Given the description of an element on the screen output the (x, y) to click on. 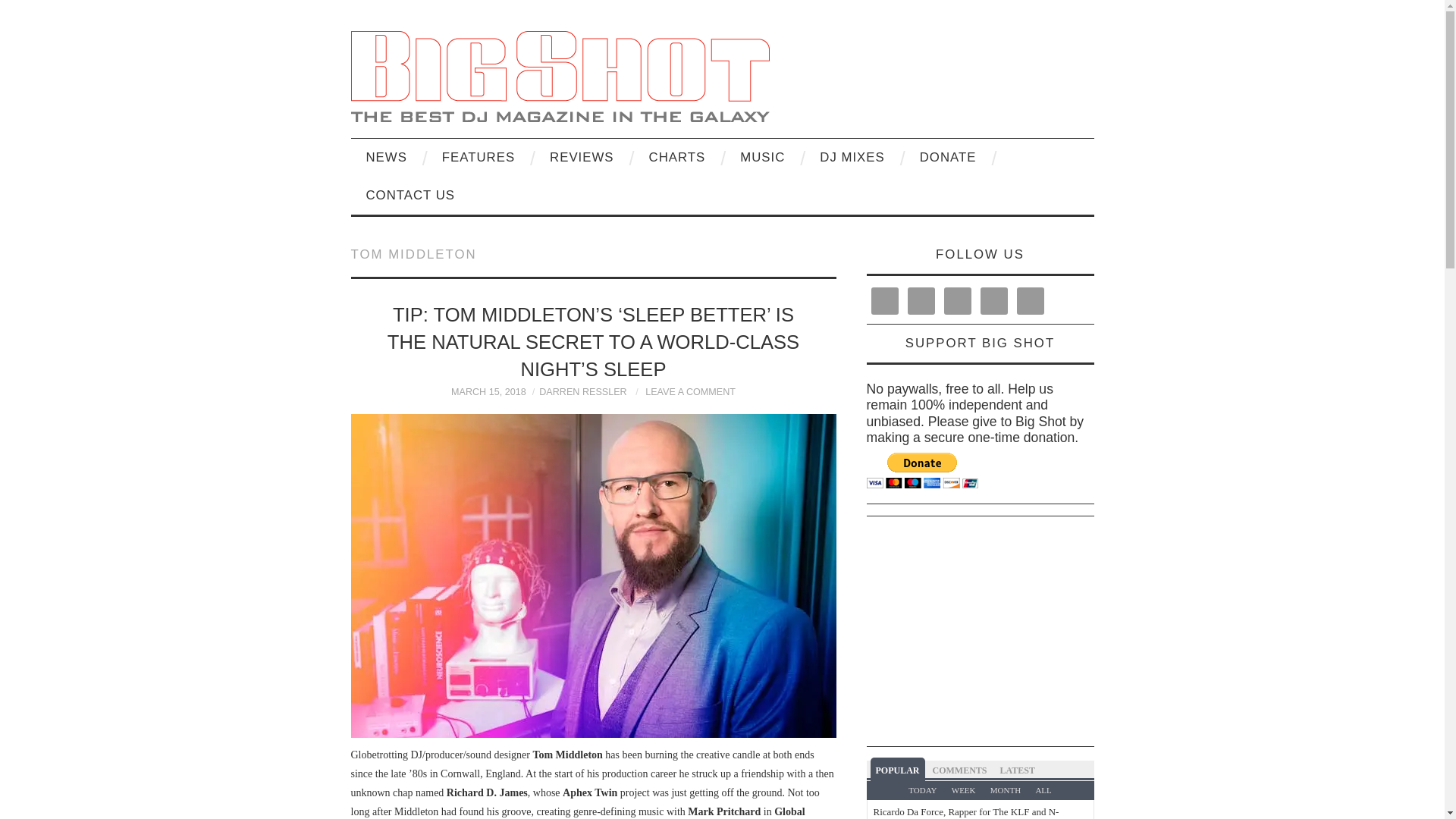
DJ MIXES (852, 157)
MARCH 15, 2018 (488, 391)
DARREN RESSLER (582, 391)
Big Shot Magazine (560, 75)
Mixes (852, 157)
REVIEWS (581, 157)
Ricardo Da Force, Rapper for The KLF and N-Trance, Is Dead (966, 812)
Charts (676, 157)
Advertisement (1155, 633)
DONATE (947, 157)
CONTACT US (410, 195)
Contact (410, 195)
FEATURES (477, 157)
 Music (762, 157)
MUSIC (762, 157)
